Given the description of an element on the screen output the (x, y) to click on. 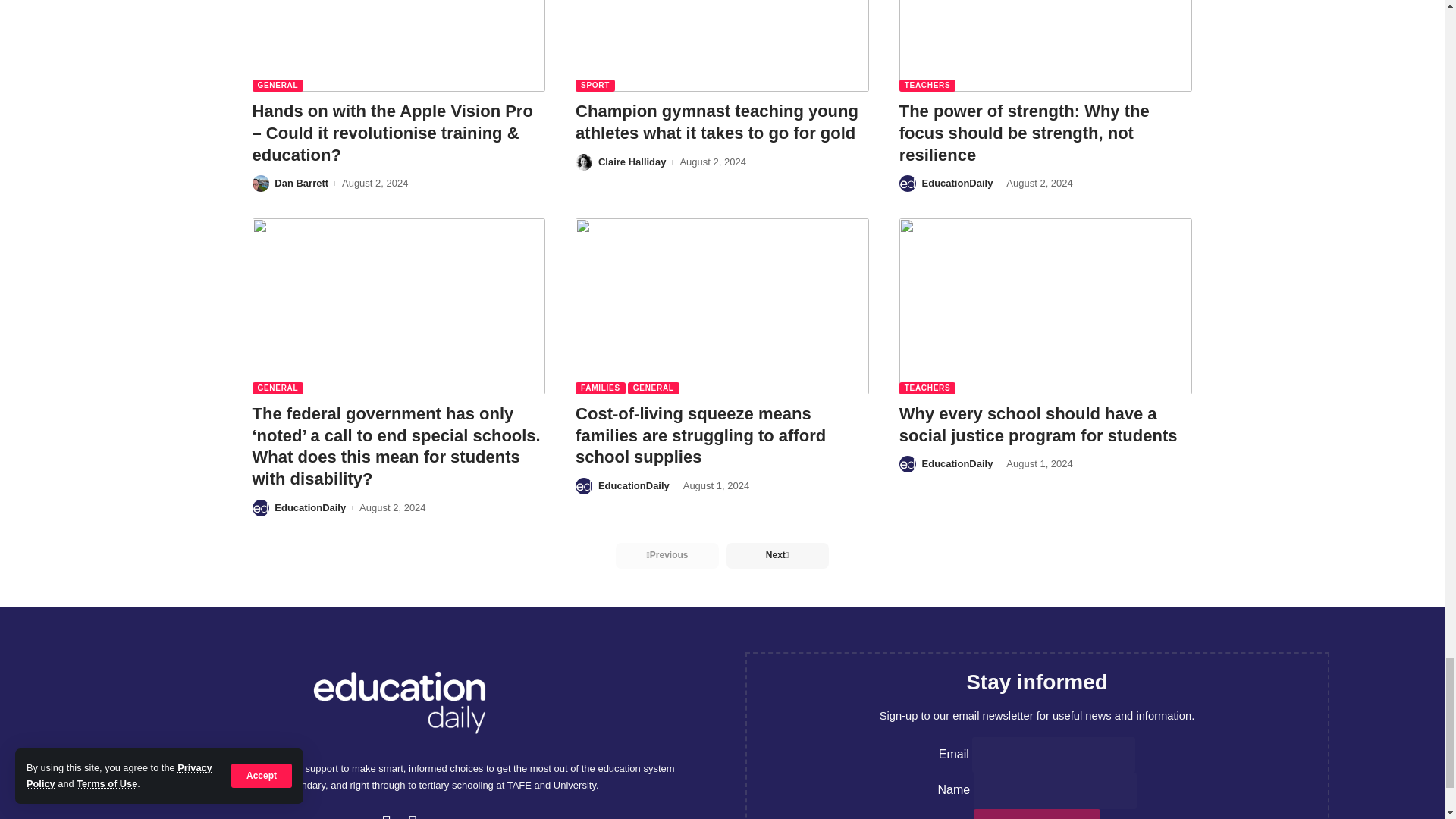
Subscribe (1037, 814)
